Given the description of an element on the screen output the (x, y) to click on. 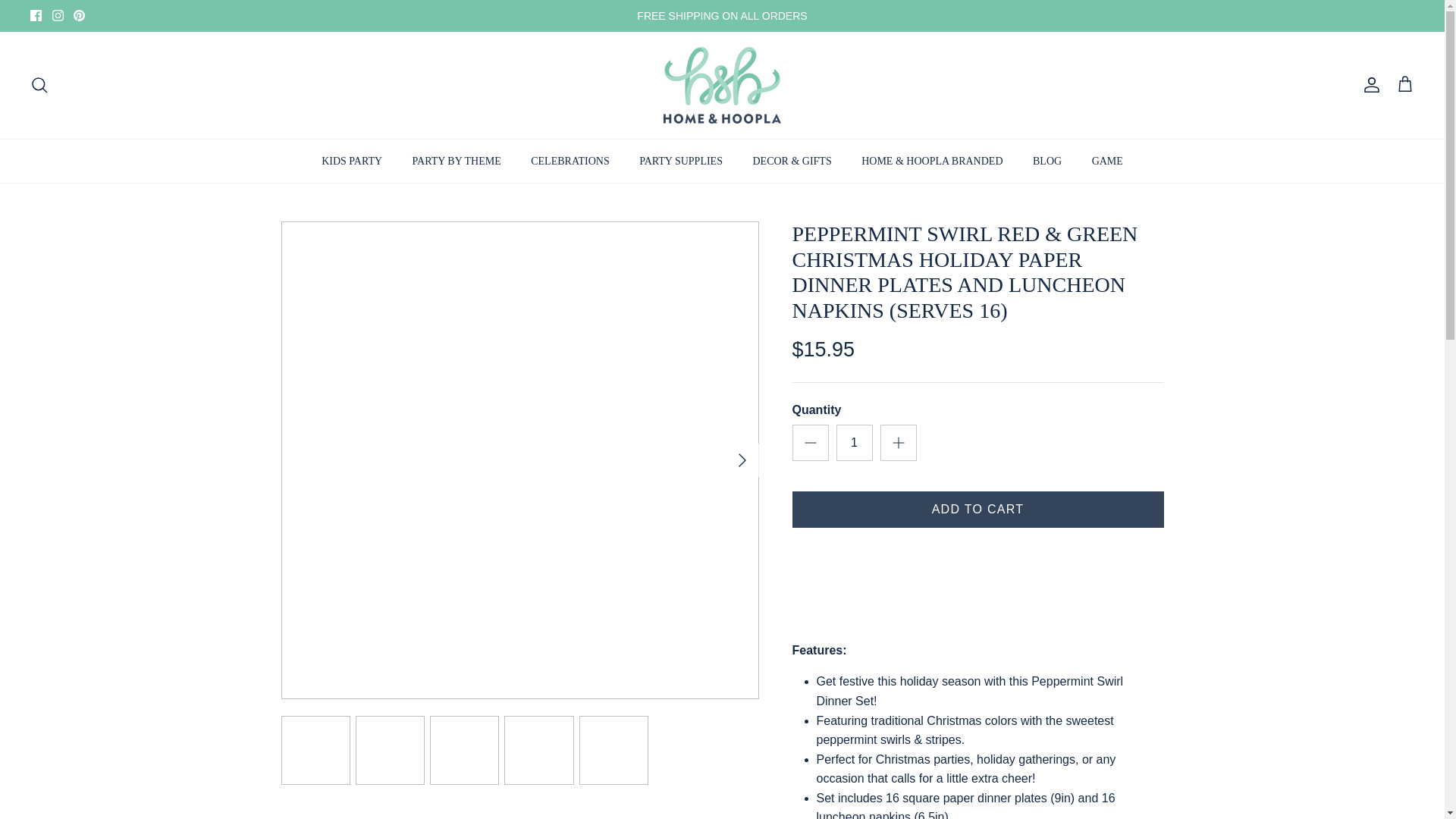
RIGHT (741, 459)
1 (853, 443)
Search (39, 85)
Minus (809, 443)
Facebook (36, 15)
Pinterest (79, 15)
PARTY BY THEME (456, 160)
Cart (1404, 85)
KIDS PARTY (351, 160)
Facebook (36, 15)
